Given the description of an element on the screen output the (x, y) to click on. 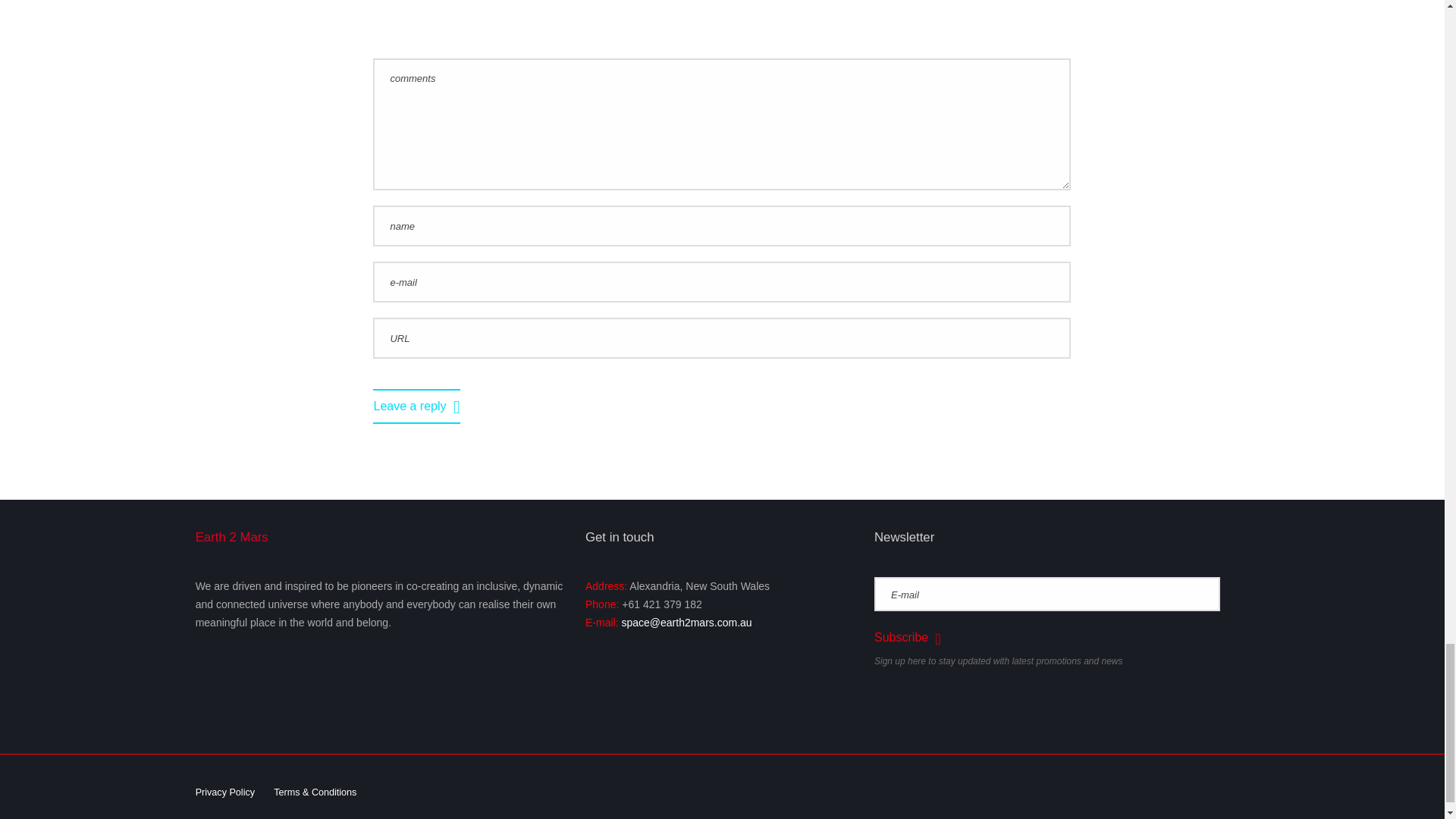
Privacy Policy (224, 792)
Subscribe (907, 637)
Leave a reply (416, 407)
